Given the description of an element on the screen output the (x, y) to click on. 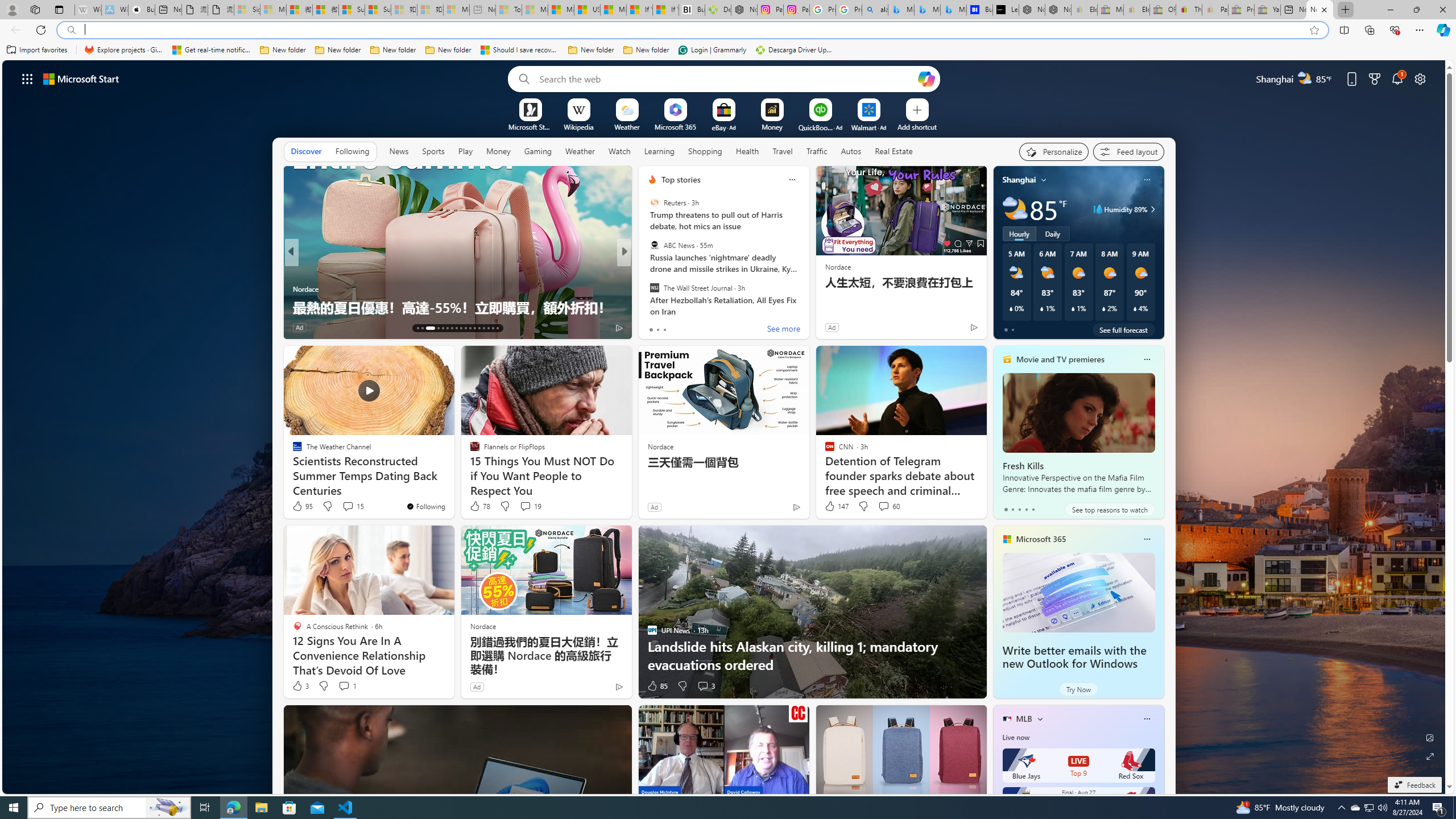
Sign in to your Microsoft account - Sleeping (246, 9)
Add a site (916, 126)
1 Like (651, 327)
AutomationID: tab-16 (435, 328)
Microsoft rewards (1374, 78)
AutomationID: backgroundImagePicture (723, 426)
View comments 19 Comment (525, 505)
78 Like (479, 505)
Shanghai (1018, 179)
tab-2 (1019, 509)
View comments 1k Comment (703, 327)
Humidity 89% (1150, 208)
Microsoft start (81, 78)
